Given the description of an element on the screen output the (x, y) to click on. 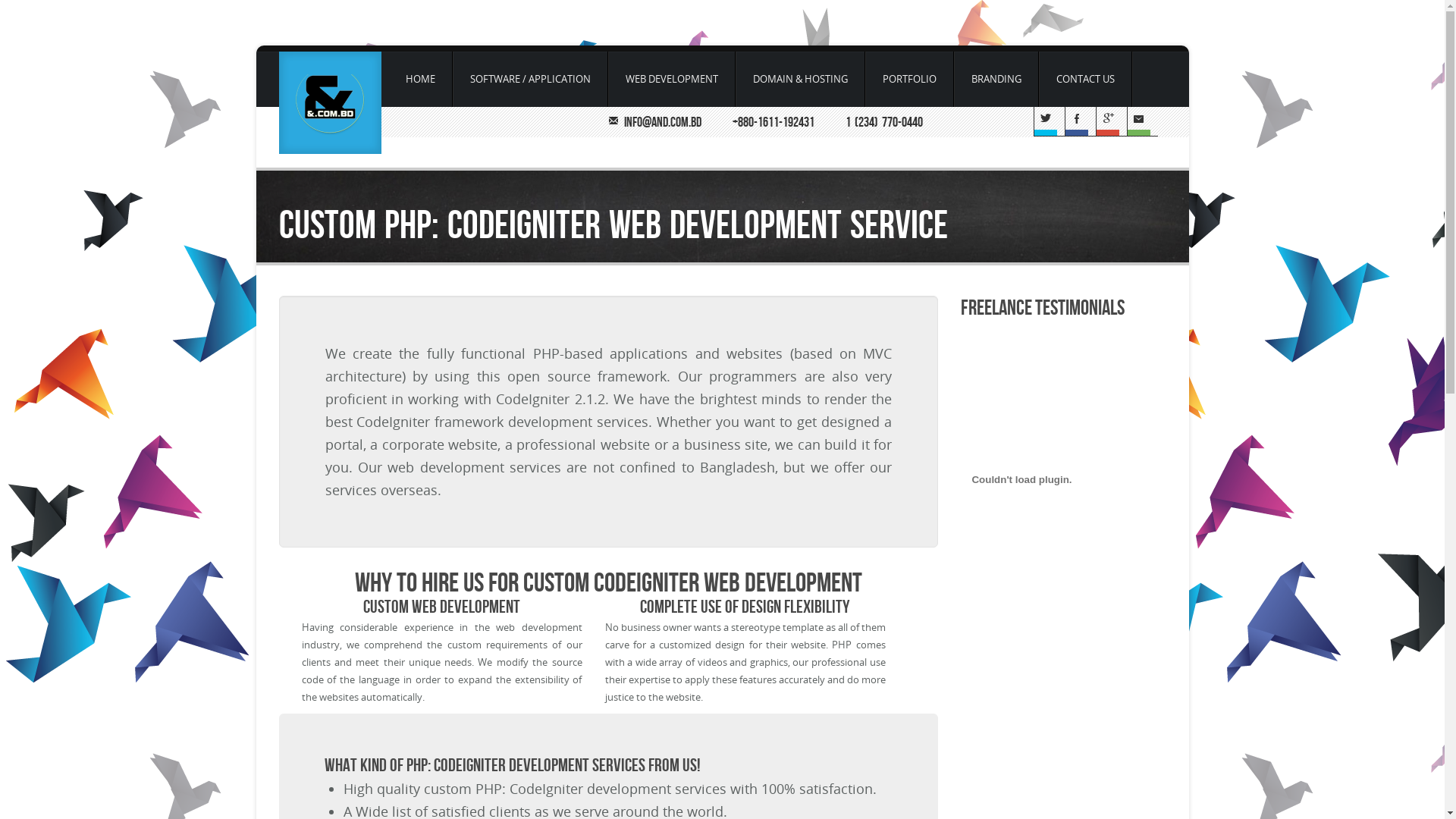
Email Element type: text (1141, 121)
DOMAIN & HOSTING Element type: text (799, 78)
WEB DEVELOPMENT Element type: text (671, 78)
SOFTWARE / APPLICATION Element type: text (530, 78)
Twitter Element type: text (1048, 121)
HOME Element type: text (419, 78)
BRANDING Element type: text (995, 78)
CONTACT US Element type: text (1084, 78)
G+ Element type: text (1110, 121)
Facebook Element type: text (1079, 121)
PORTFOLIO Element type: text (909, 78)
